Given the description of an element on the screen output the (x, y) to click on. 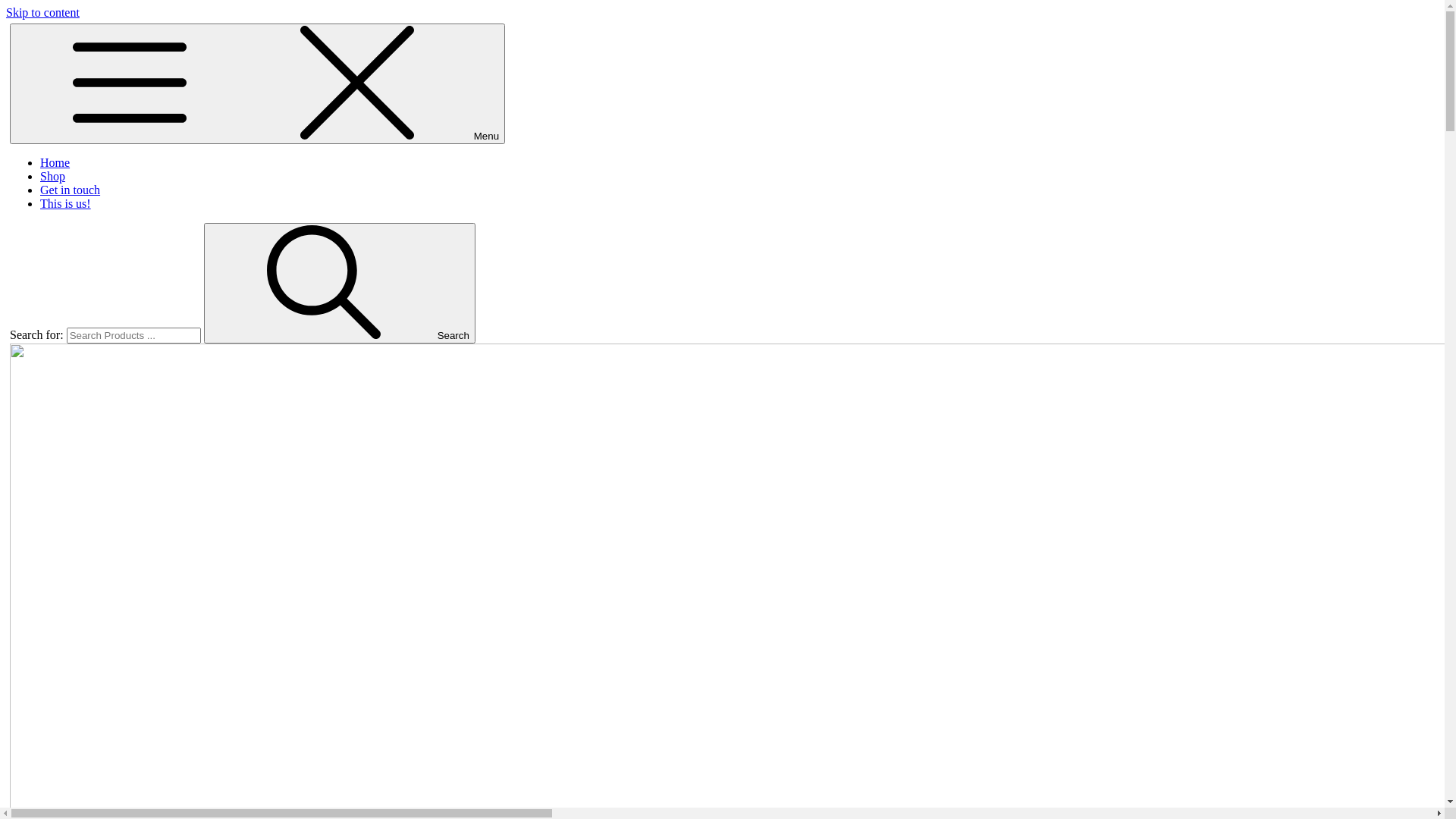
This is us! Element type: text (65, 203)
Shop Element type: text (52, 175)
Get in touch Element type: text (70, 189)
Home Element type: text (54, 162)
Skip to content Element type: text (42, 12)
Search Element type: text (339, 282)
Menu Element type: text (257, 83)
